Given the description of an element on the screen output the (x, y) to click on. 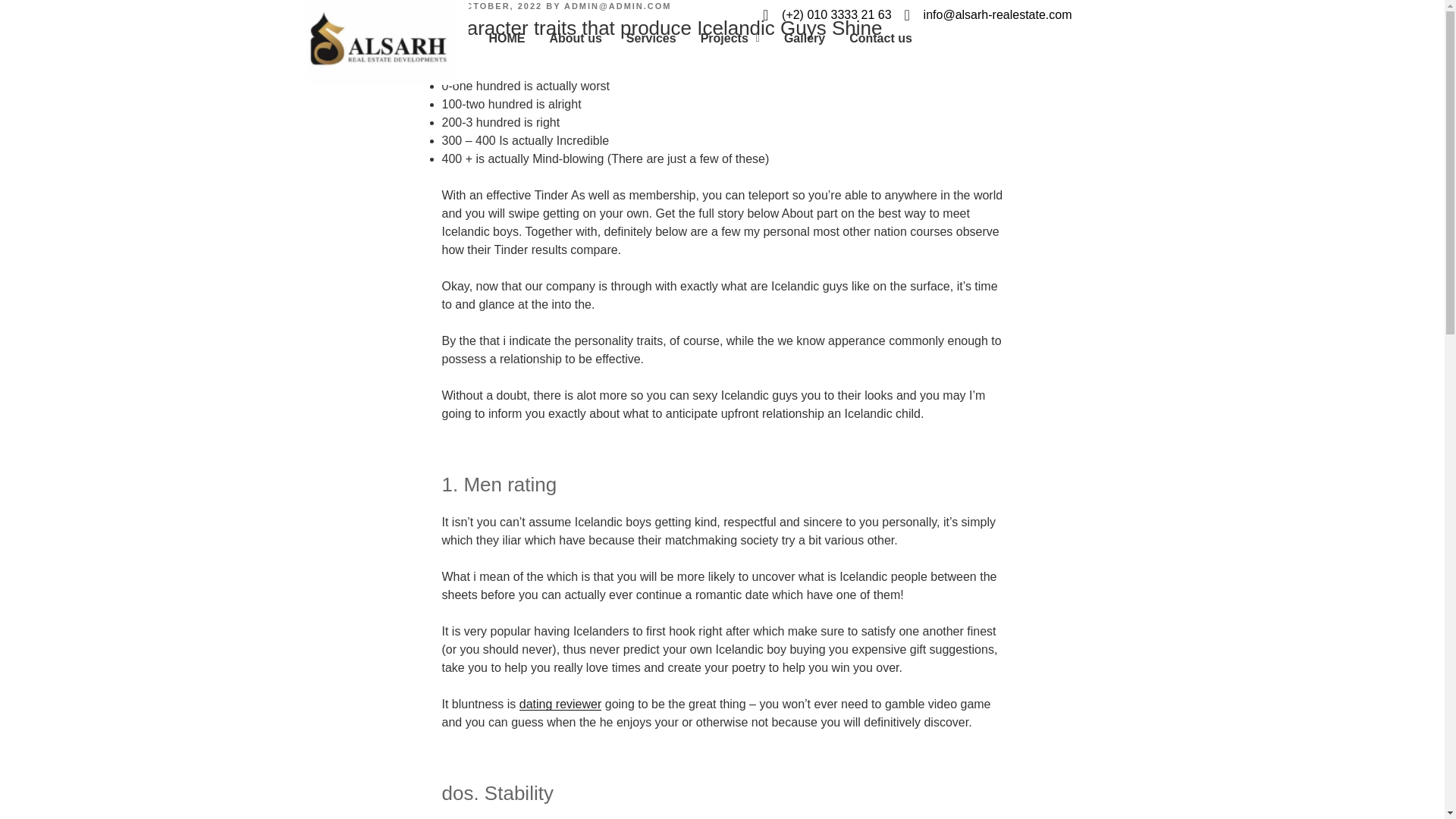
HOME (506, 38)
Contact us (880, 38)
About us (574, 38)
dating reviewer (560, 703)
Gallery (804, 38)
Services (651, 38)
10 OCTOBER, 2022 (491, 5)
Projects (729, 38)
